Given the description of an element on the screen output the (x, y) to click on. 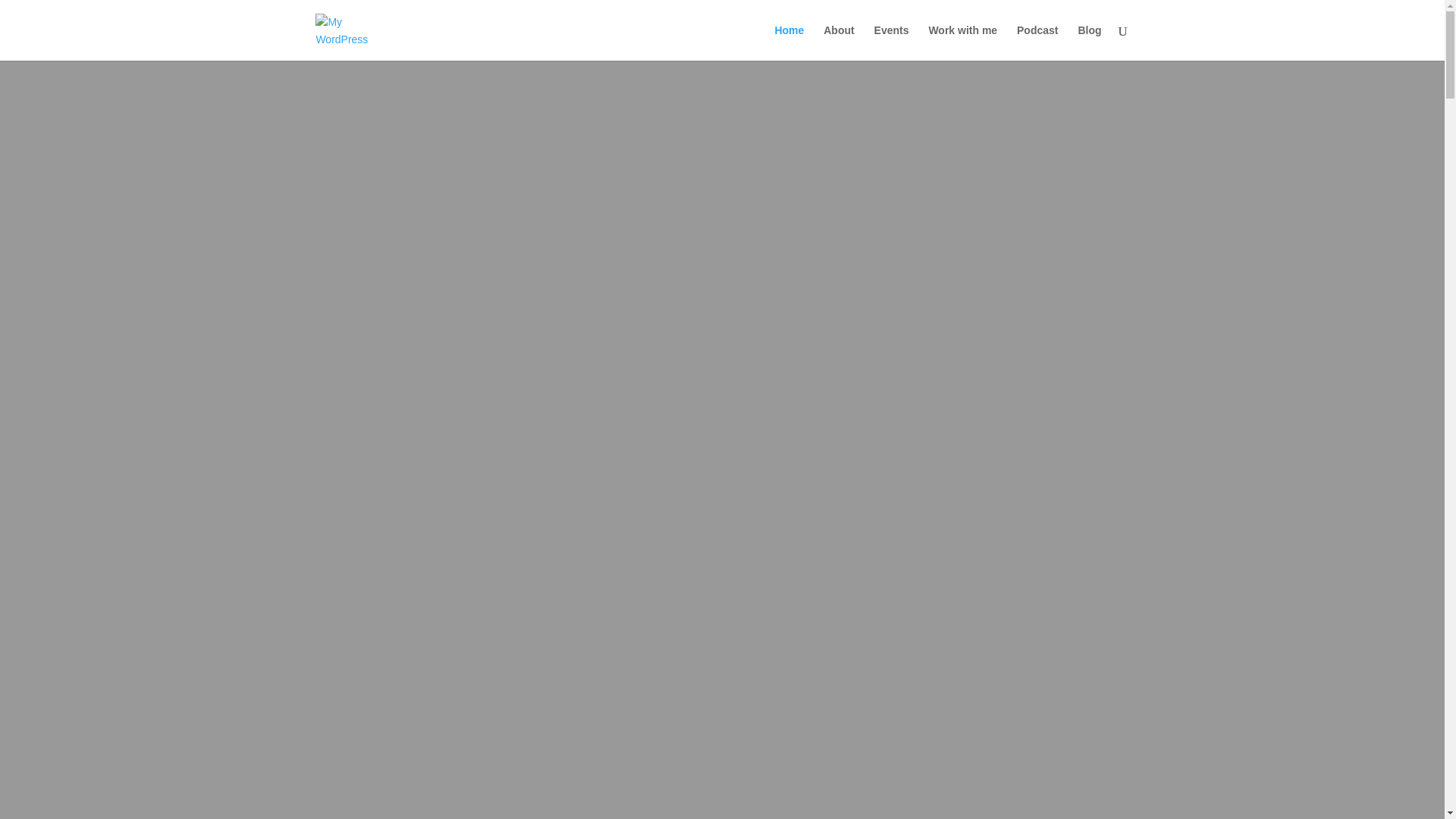
Events (891, 42)
Work with me (962, 42)
Podcast (1037, 42)
